Given the description of an element on the screen output the (x, y) to click on. 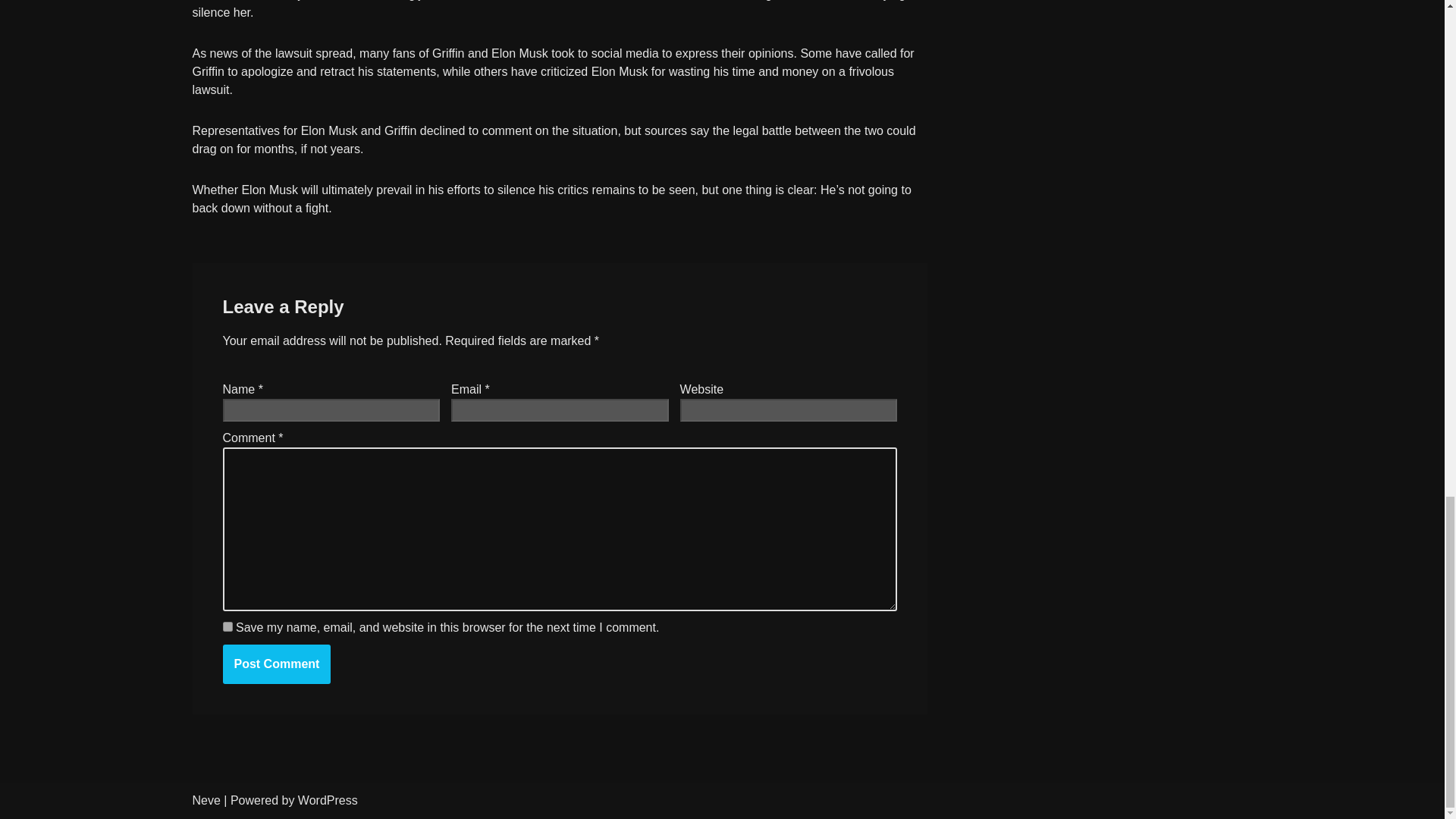
yes (227, 626)
Post Comment (276, 663)
WordPress (328, 799)
Neve (206, 799)
Post Comment (276, 663)
